Given the description of an element on the screen output the (x, y) to click on. 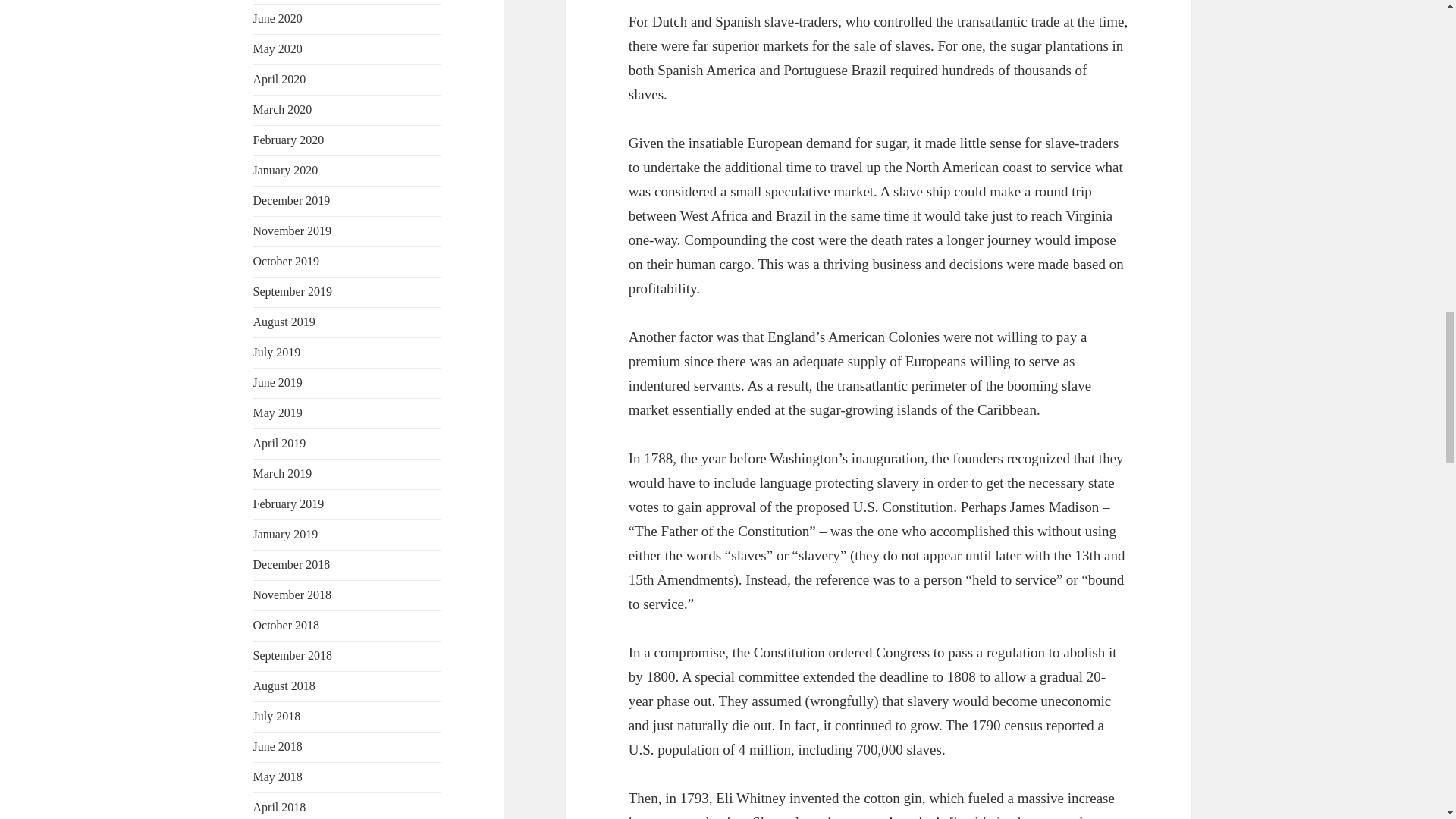
January 2020 (285, 169)
October 2019 (286, 260)
November 2019 (292, 230)
March 2020 (283, 109)
June 2020 (277, 18)
April 2020 (279, 78)
February 2020 (288, 139)
December 2019 (291, 200)
May 2020 (277, 48)
